Given the description of an element on the screen output the (x, y) to click on. 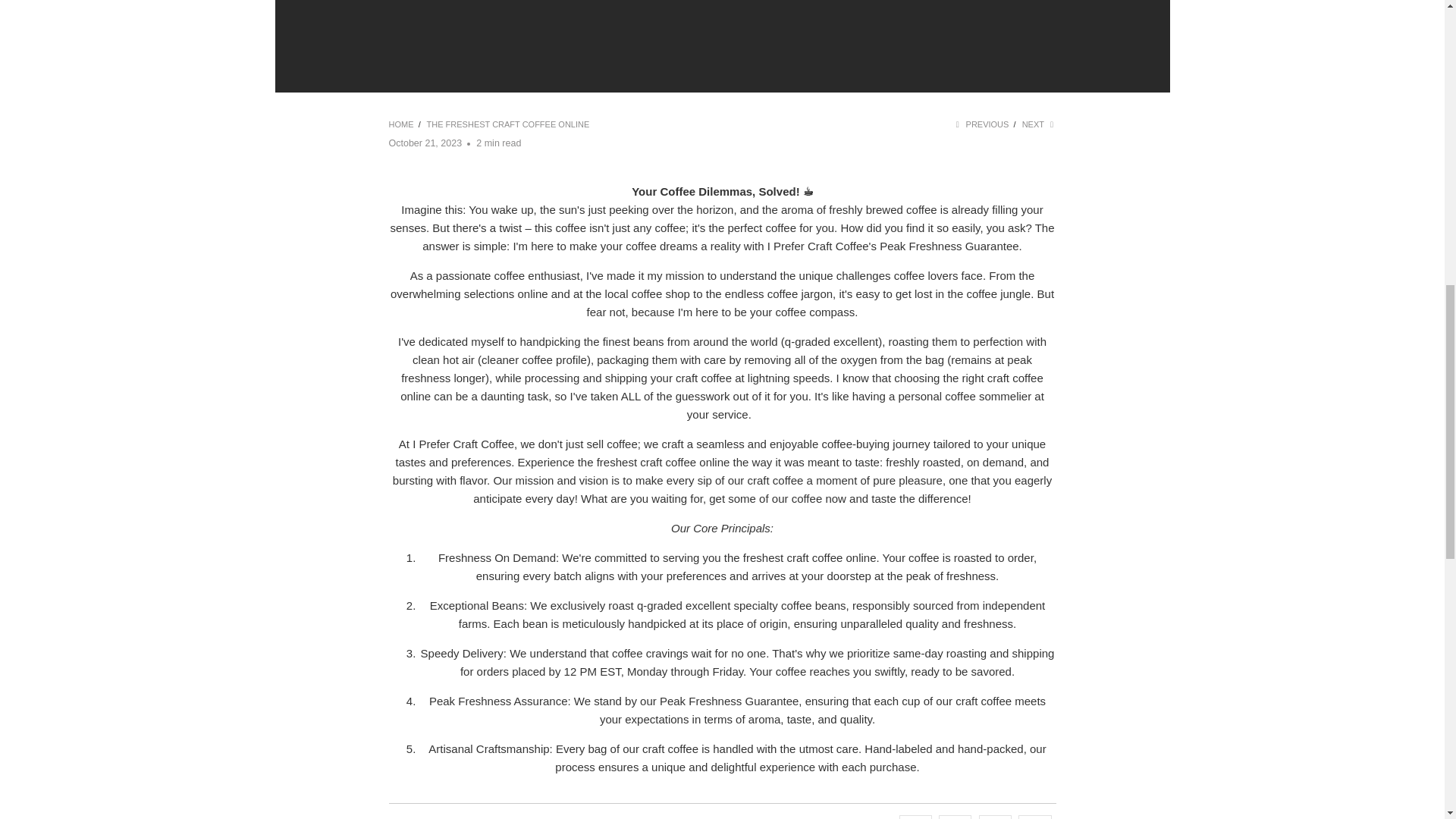
Share this on Twitter (915, 816)
Share this on Facebook (955, 816)
Share this on Pinterest (994, 816)
The Freshest Craft Coffee Online (507, 123)
I Prefer Craft Coffee (401, 123)
